Given the description of an element on the screen output the (x, y) to click on. 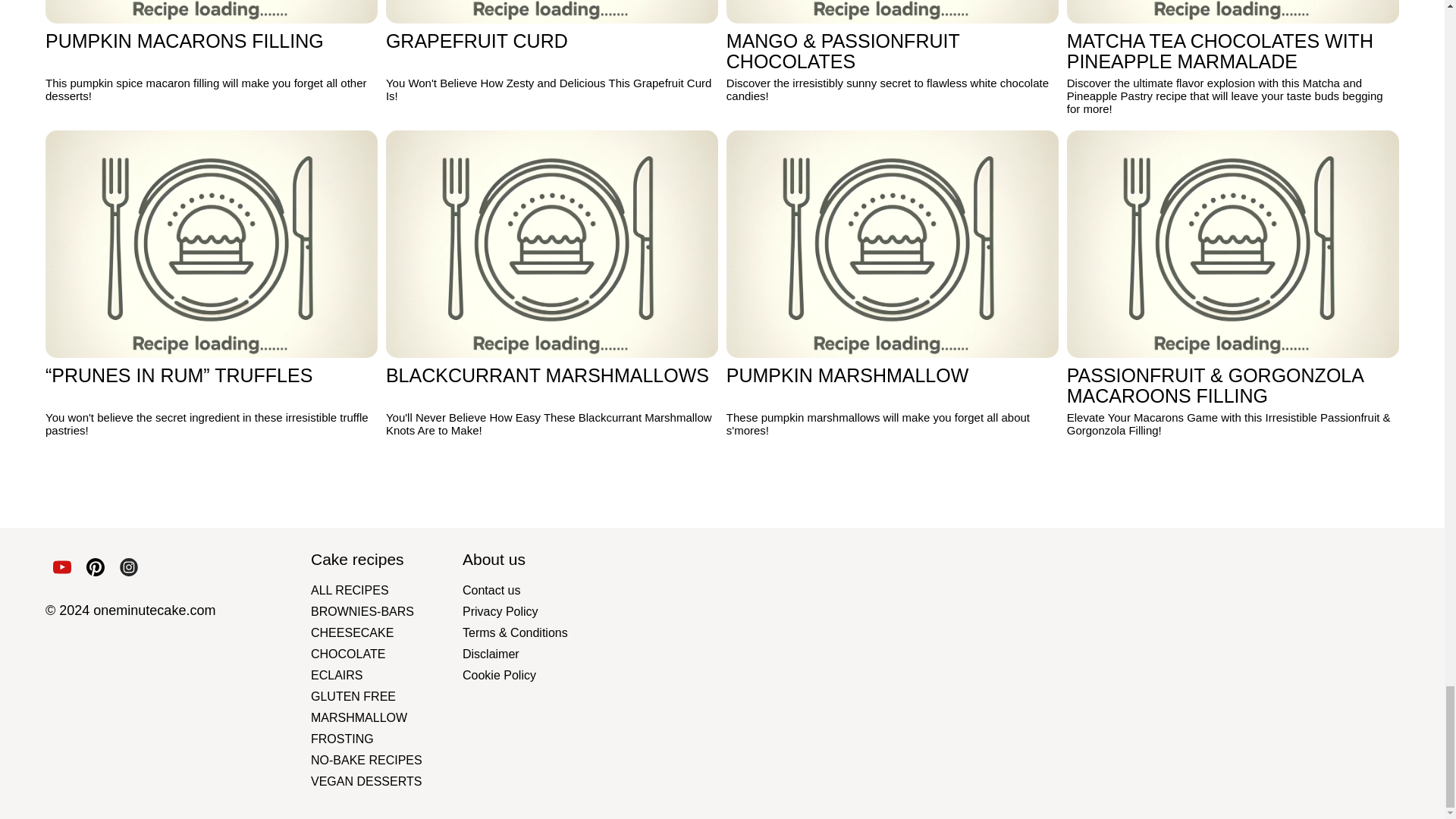
BLACKCURRANT MARSHMALLOWS (551, 243)
MATCHA TEA CHOCOLATES WITH PINEAPPLE MARMALADE (1233, 11)
NO-BAKE RECIPES (387, 759)
ALL RECIPES (387, 590)
FROSTING (387, 738)
ECLAIRS (387, 674)
PUMPKIN MACARONS FILLING (211, 11)
BROWNIES-BARS (387, 611)
PUMPKIN MARSHMALLOW (892, 243)
Contact us (538, 590)
CHOCOLATE (387, 653)
